Given the description of an element on the screen output the (x, y) to click on. 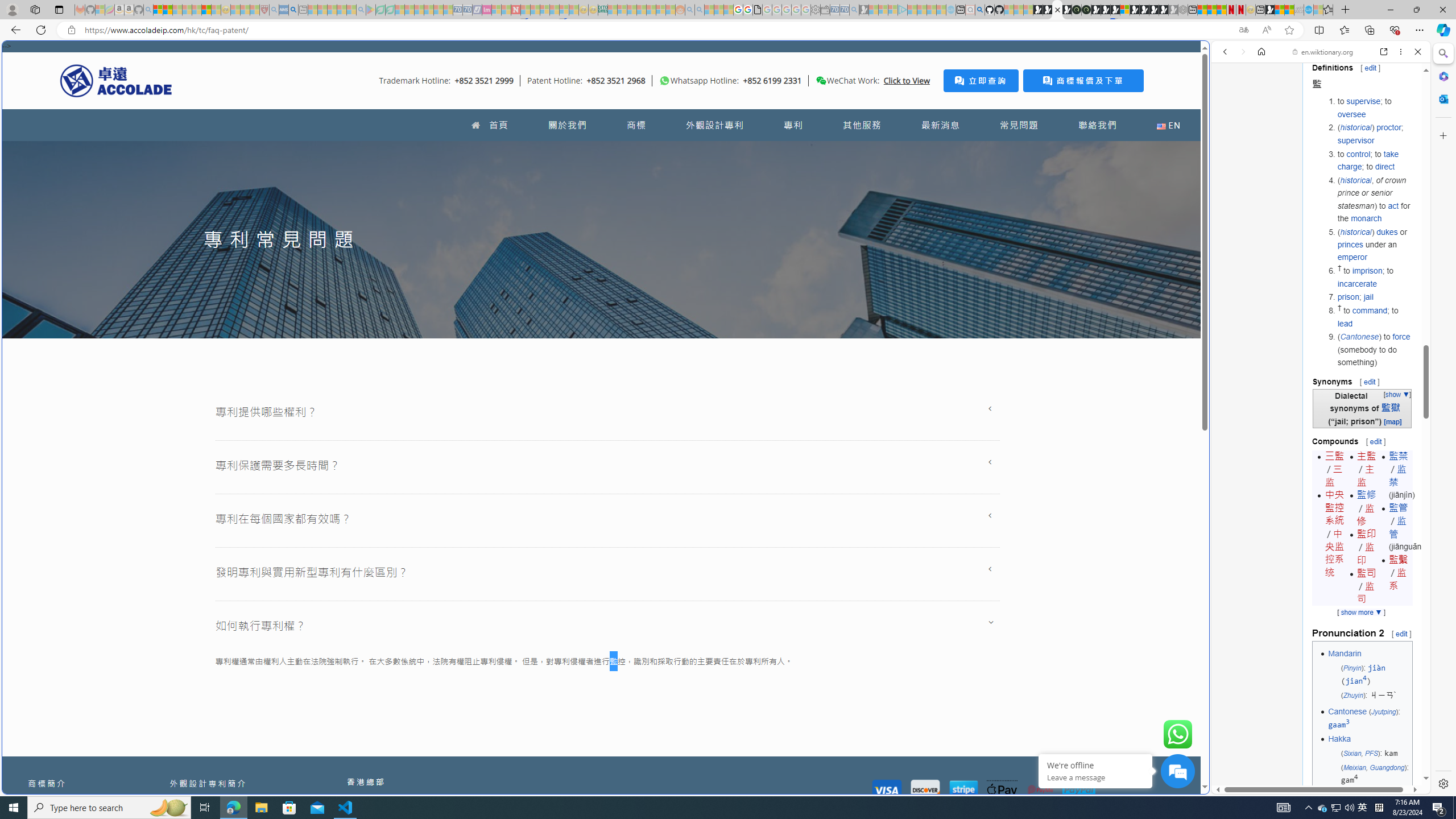
Zhuyin (1352, 694)
